Given the description of an element on the screen output the (x, y) to click on. 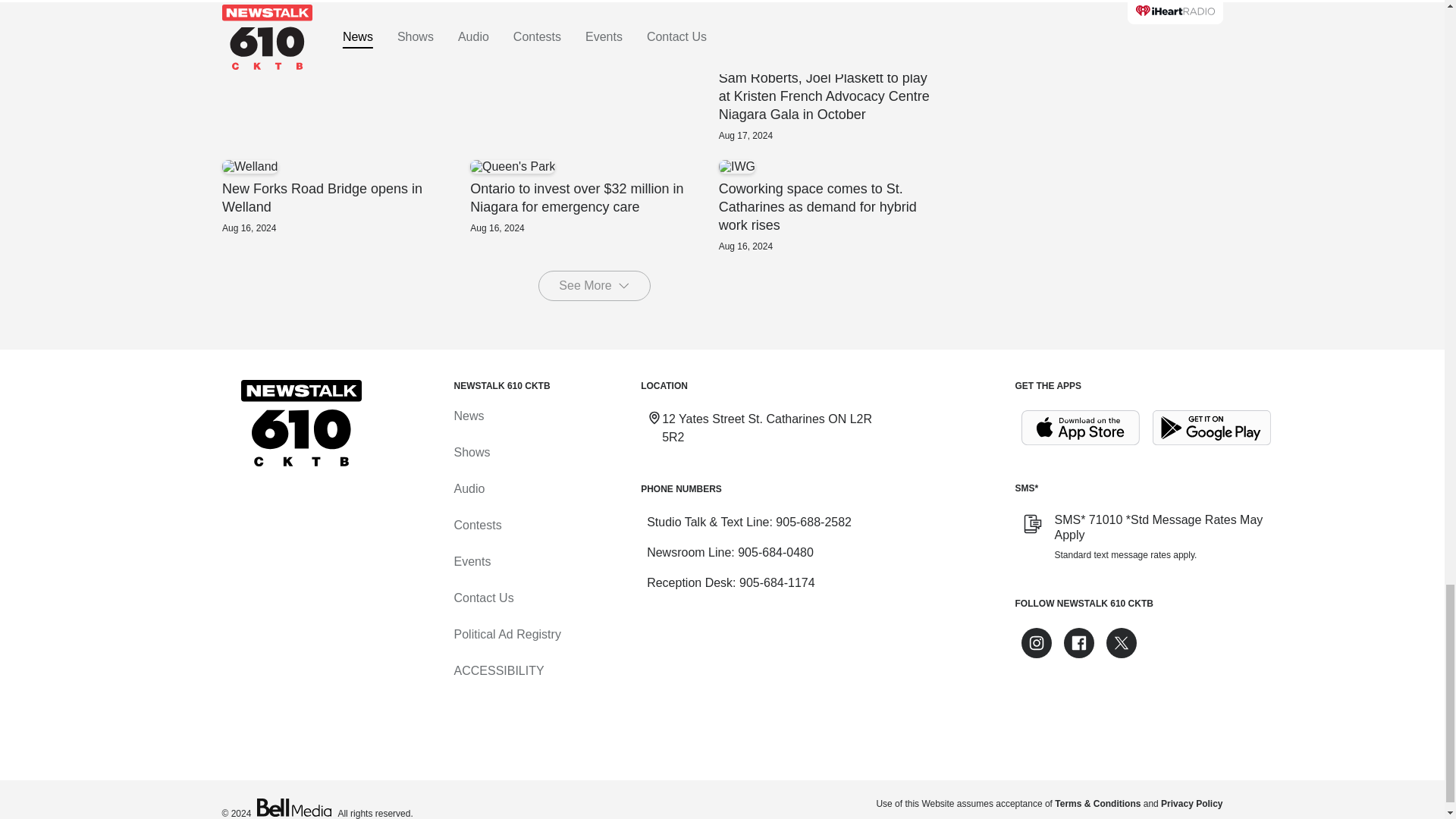
Contact Us (482, 597)
Events (471, 561)
News (467, 415)
905-684-1174 (777, 582)
Contests (476, 524)
Privacy Policy (1191, 803)
ACCESSIBILITY (497, 671)
